Given the description of an element on the screen output the (x, y) to click on. 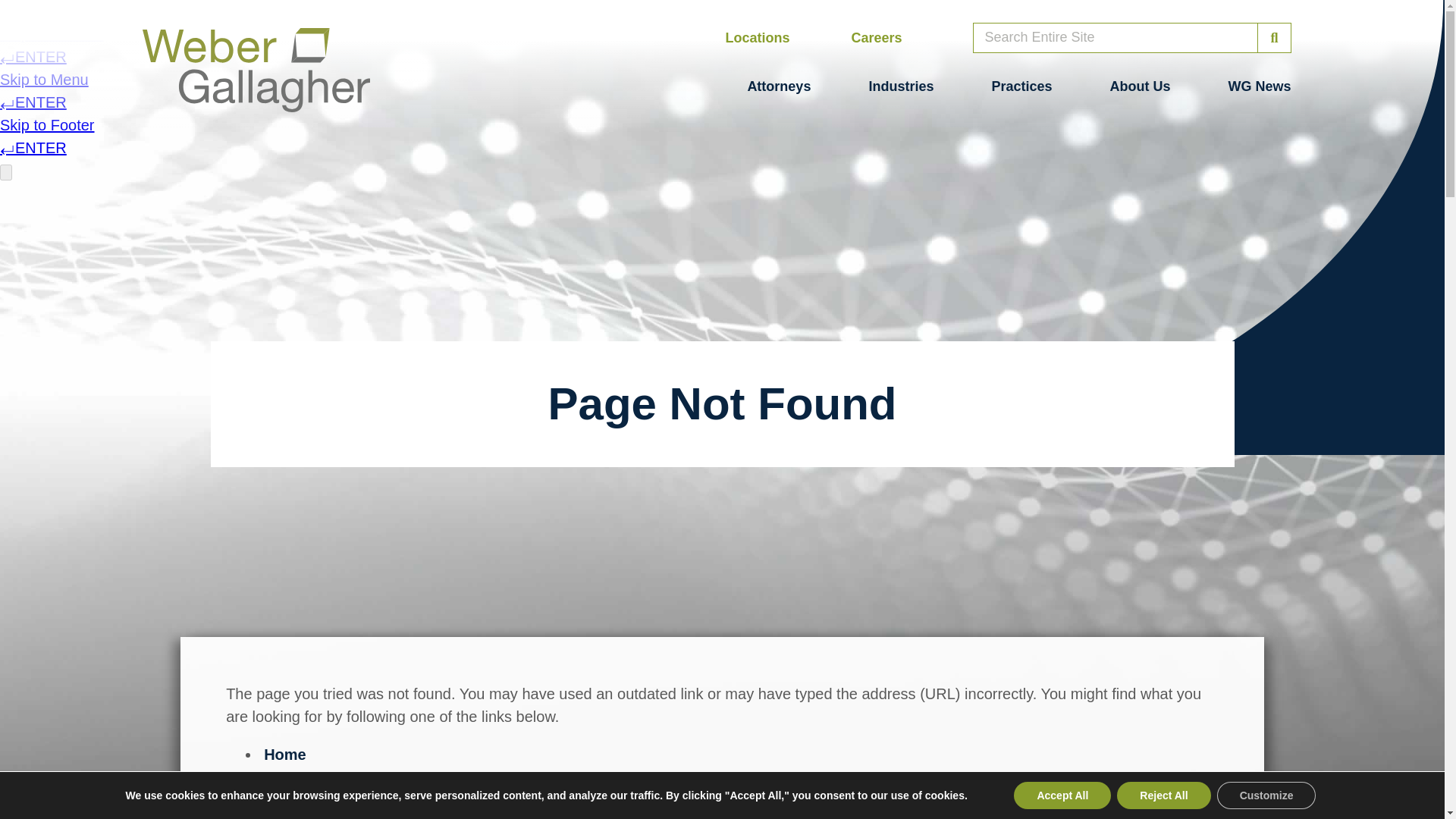
Careers (875, 37)
Attorneys (778, 85)
Industries (900, 85)
Locations (757, 37)
